Given the description of an element on the screen output the (x, y) to click on. 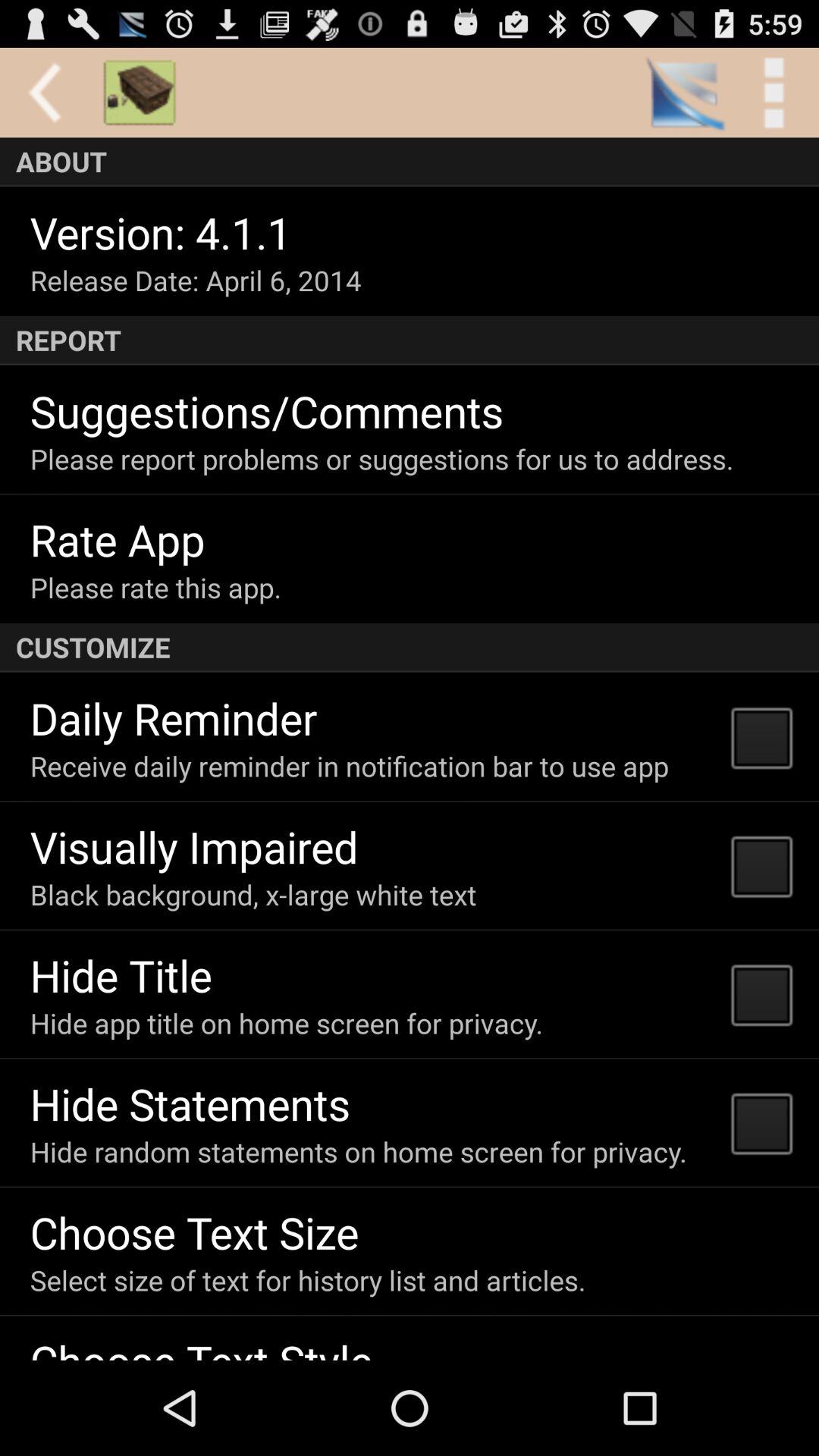
launch the app below rate app (155, 587)
